Given the description of an element on the screen output the (x, y) to click on. 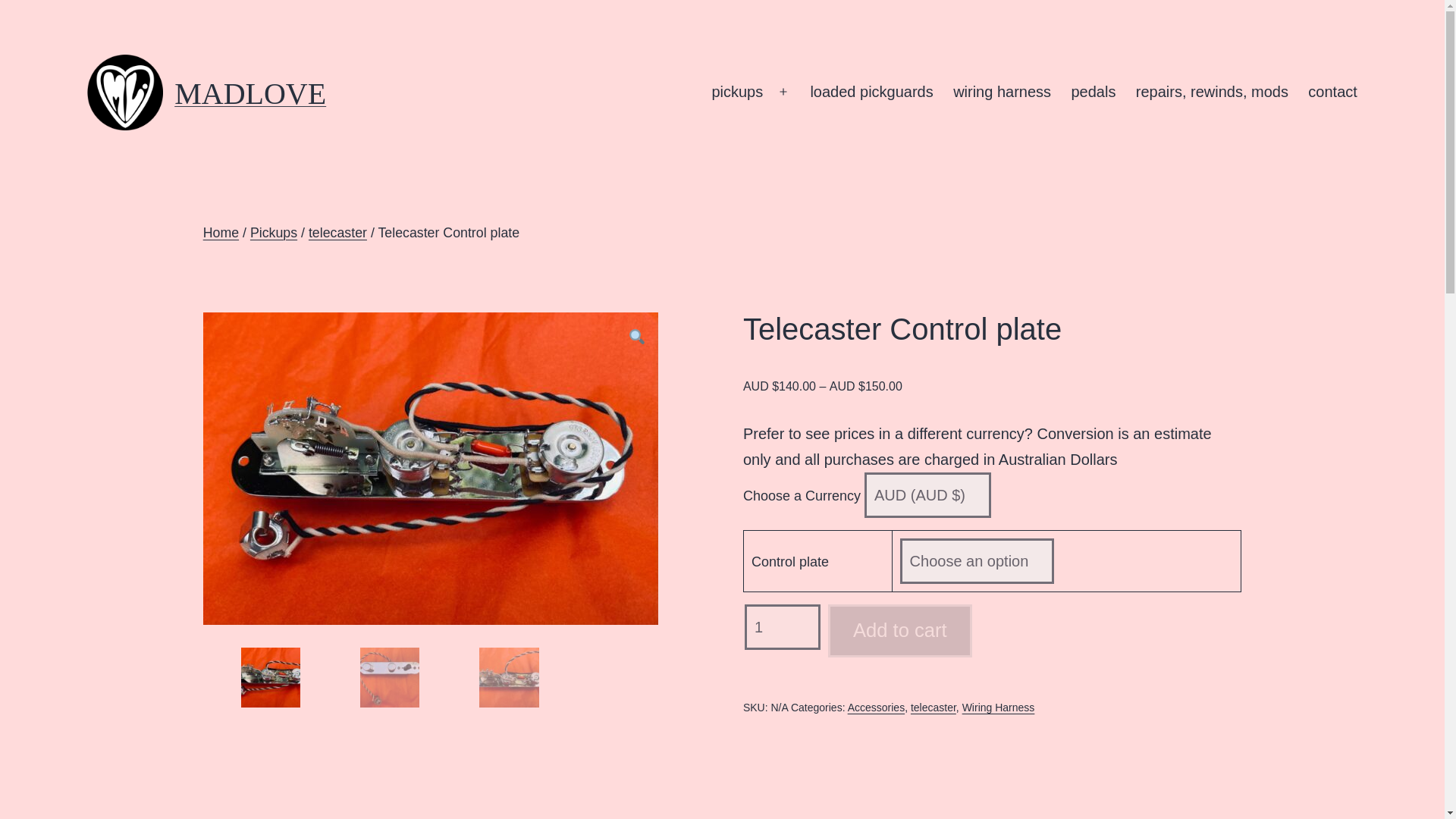
pedals (1093, 92)
Pickups (273, 232)
loaded pickguards (871, 92)
MADLOVE (250, 92)
repairs, rewinds, mods (1211, 92)
wiring harness (1002, 92)
pickups (737, 92)
Accessories (875, 707)
1 (782, 627)
Open menu (783, 92)
Add to cart (900, 630)
Home (220, 232)
Wiring Harness (998, 707)
contact (1332, 92)
